Given the description of an element on the screen output the (x, y) to click on. 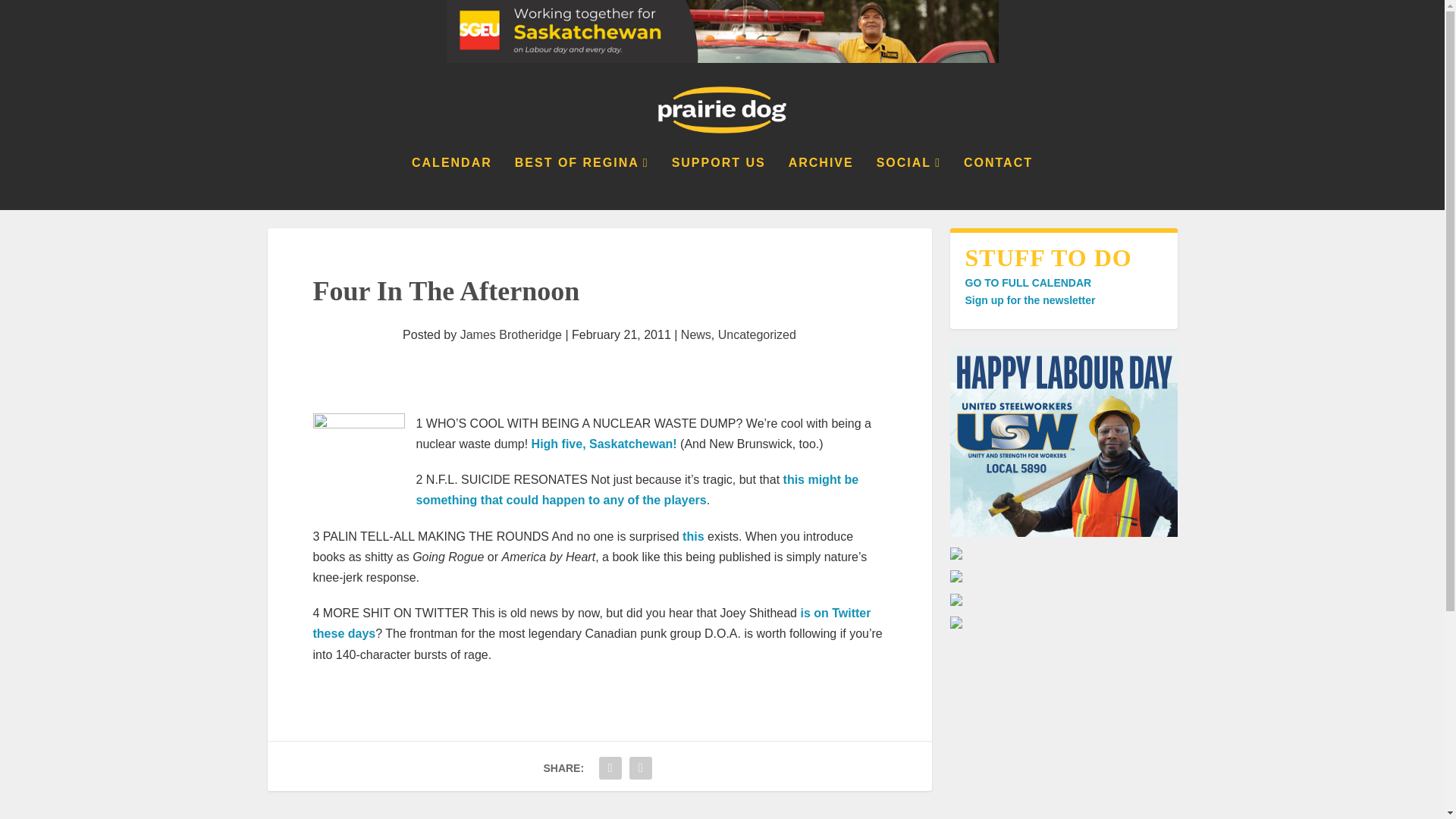
GO TO FULL CALENDAR (1026, 282)
Sign up for the newsletter (1028, 300)
SUPPORT US (718, 183)
Share "Four In The Afternoon" via Facebook (610, 767)
James Brotheridge (511, 334)
High five, Saskatchewan! (604, 443)
4-in-the-afternoon (358, 459)
Uncategorized (756, 334)
CONTACT (997, 183)
